Given the description of an element on the screen output the (x, y) to click on. 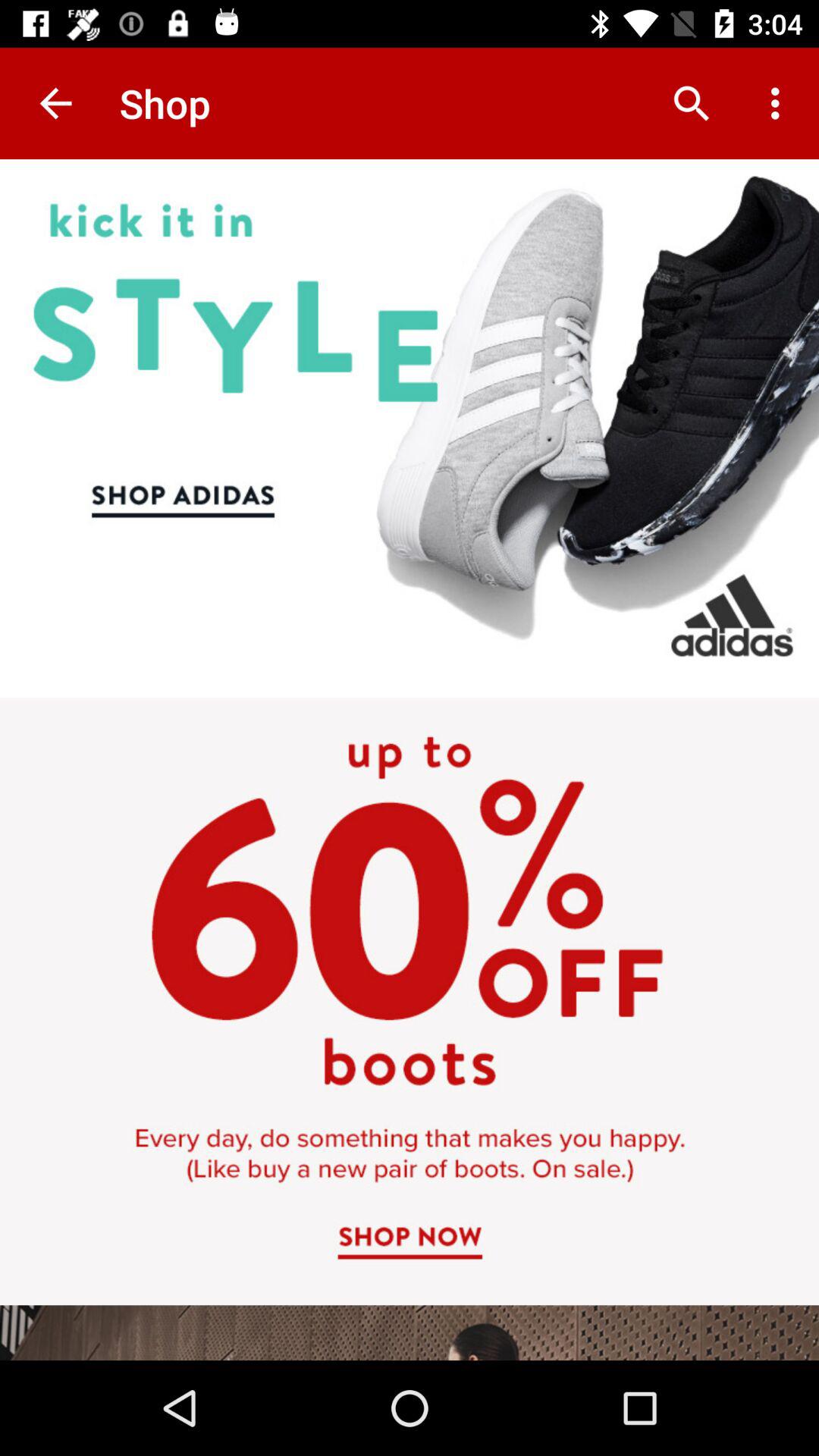
advertisement area (409, 759)
